Given the description of an element on the screen output the (x, y) to click on. 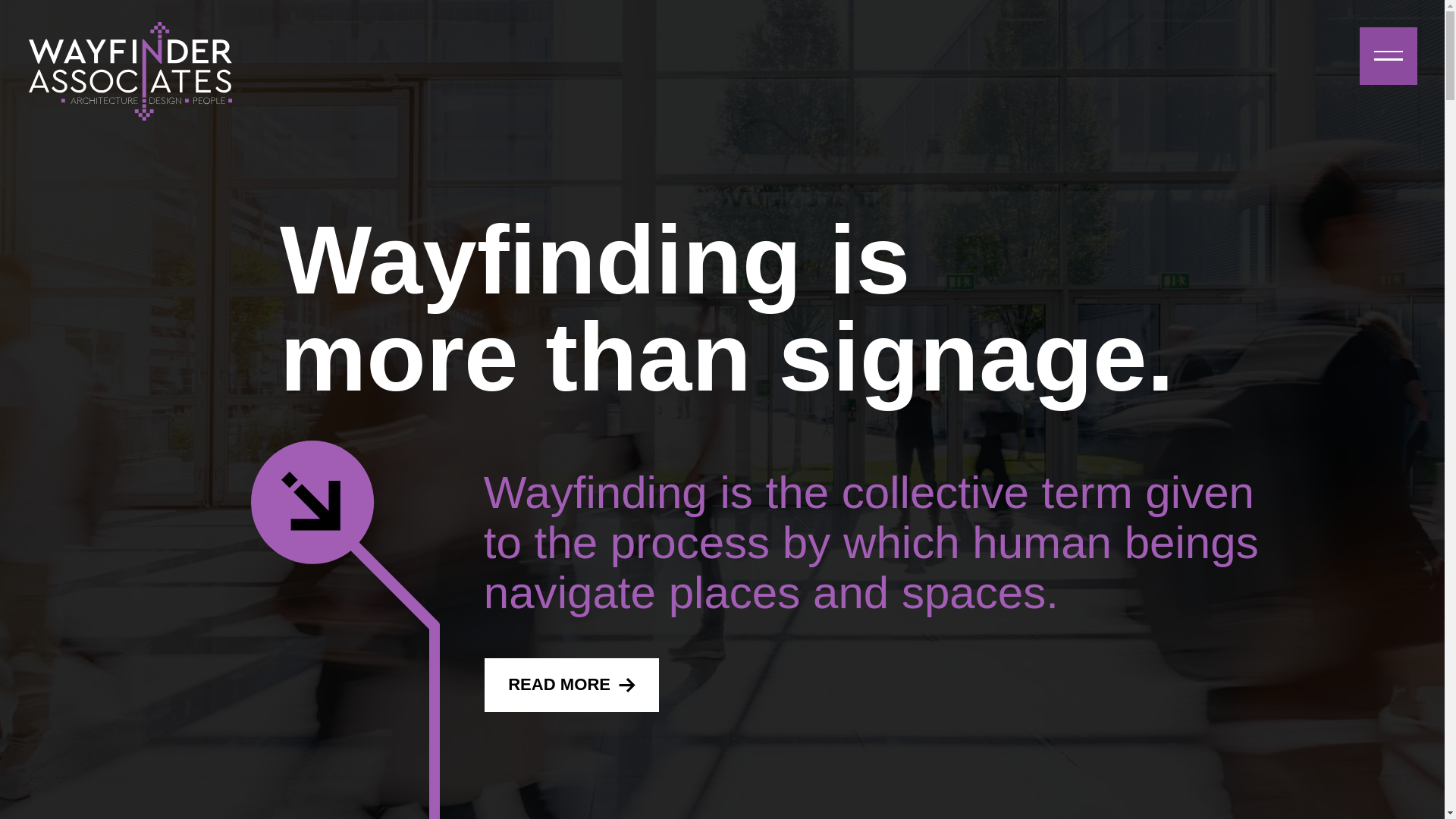
READ MORE (571, 684)
